Given the description of an element on the screen output the (x, y) to click on. 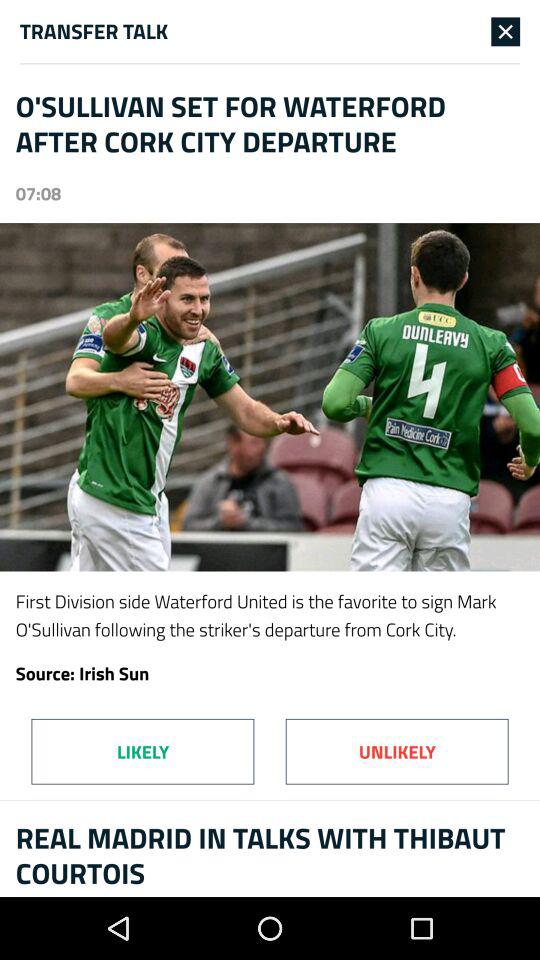
select likely (142, 751)
